Given the description of an element on the screen output the (x, y) to click on. 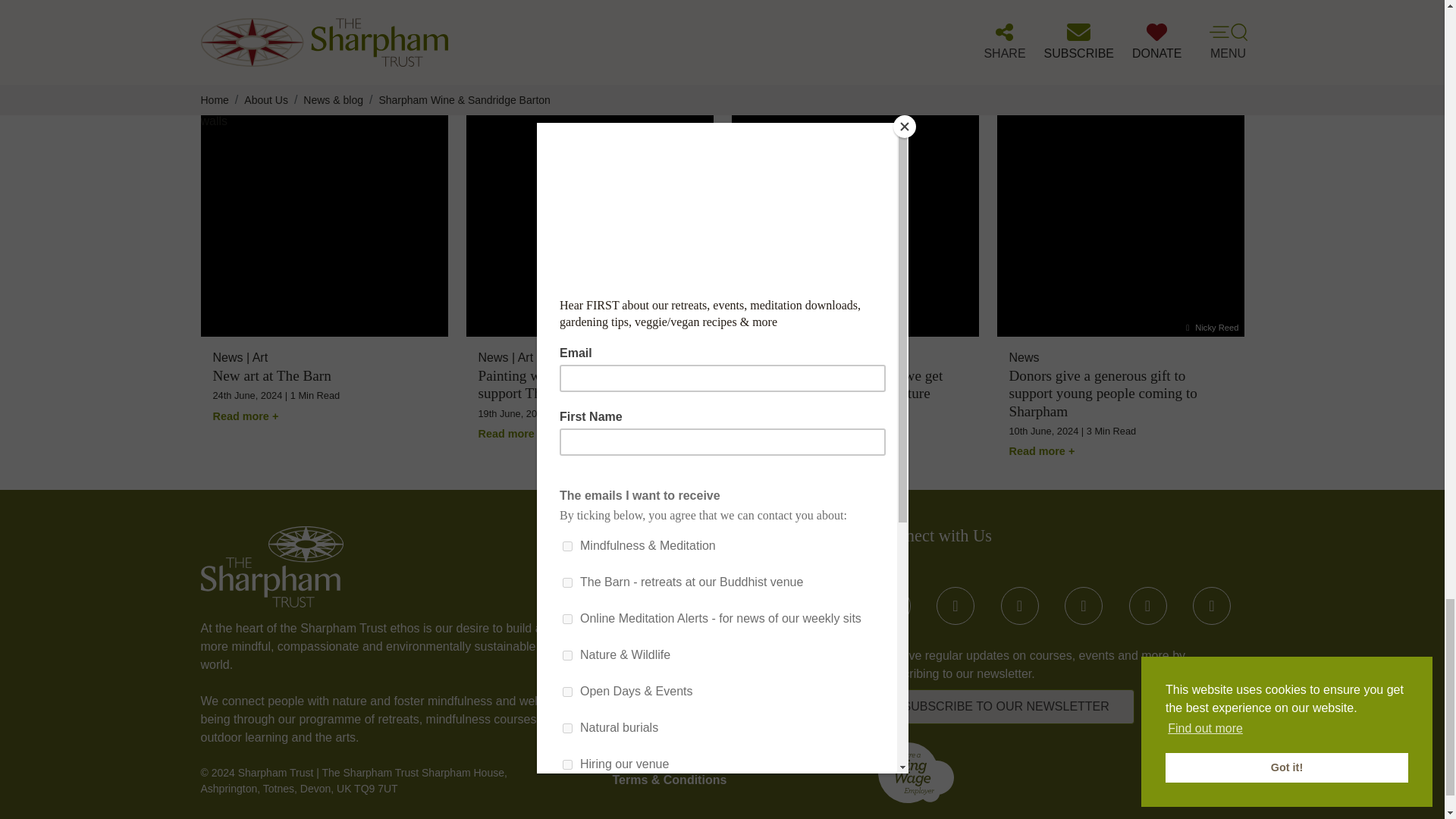
Linked In (1147, 605)
Twitter (955, 605)
Sound Cloud (1211, 605)
Newsletter (1005, 706)
YouTube (1020, 605)
Facebook (891, 605)
Instagram (1083, 605)
